Given the description of an element on the screen output the (x, y) to click on. 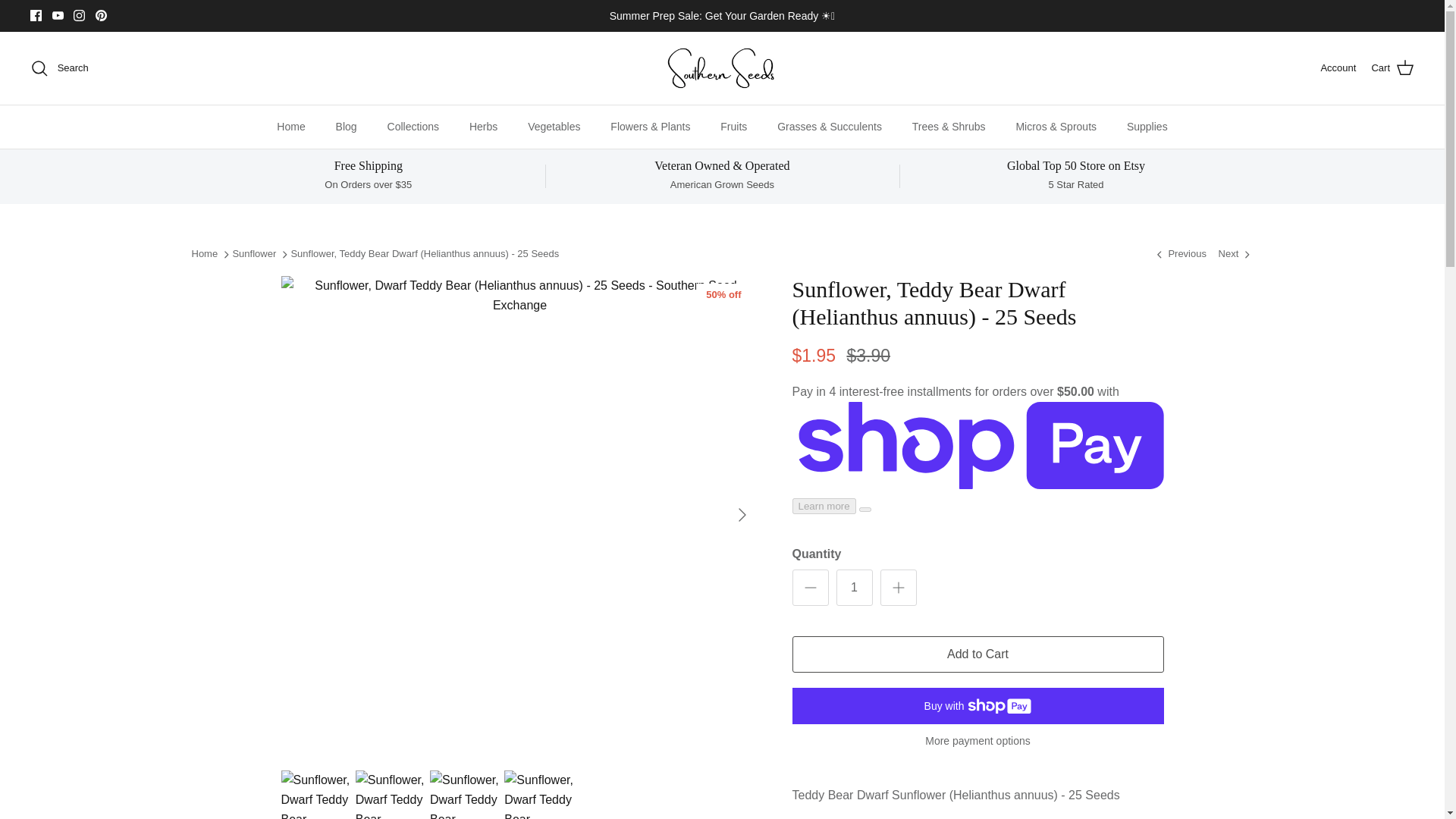
Youtube (58, 15)
Pinterest (101, 15)
Youtube (58, 15)
Instagram (79, 15)
Right (741, 514)
Plus (897, 587)
Instagram (79, 15)
Account (1337, 68)
Home (290, 126)
Pinterest (101, 15)
Minus (809, 587)
Search (59, 67)
Cart (1392, 67)
Facebook (36, 15)
1 (853, 587)
